Given the description of an element on the screen output the (x, y) to click on. 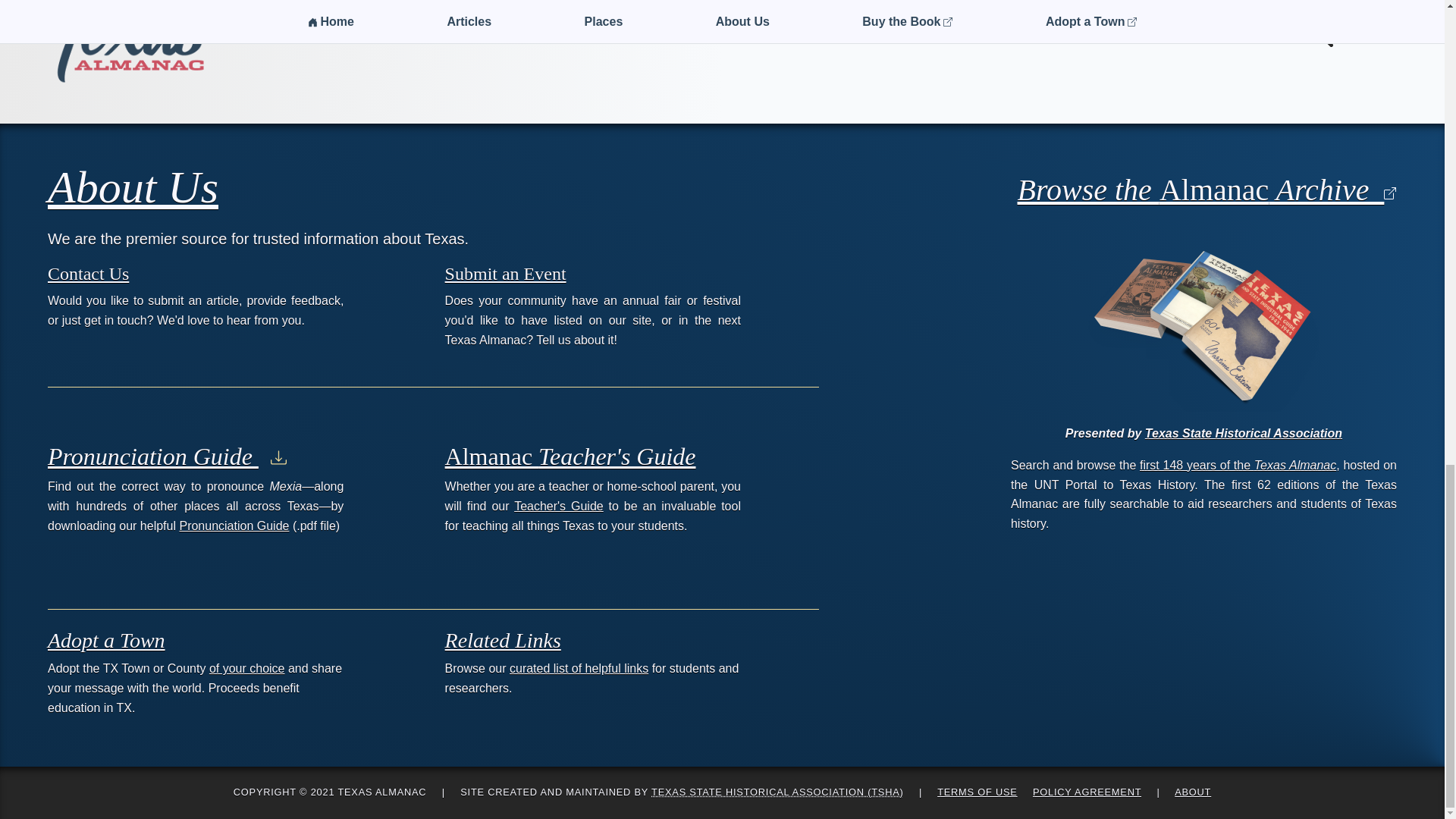
Adopt a Town (106, 639)
Pronunciation Guide (233, 525)
Pronunciation Guide (167, 456)
About Us (133, 187)
Submit an Event (505, 273)
Site Search (1352, 31)
Contact Us (88, 273)
Teacher's Guide (558, 505)
Almanac Teacher's Guide (570, 456)
